Given the description of an element on the screen output the (x, y) to click on. 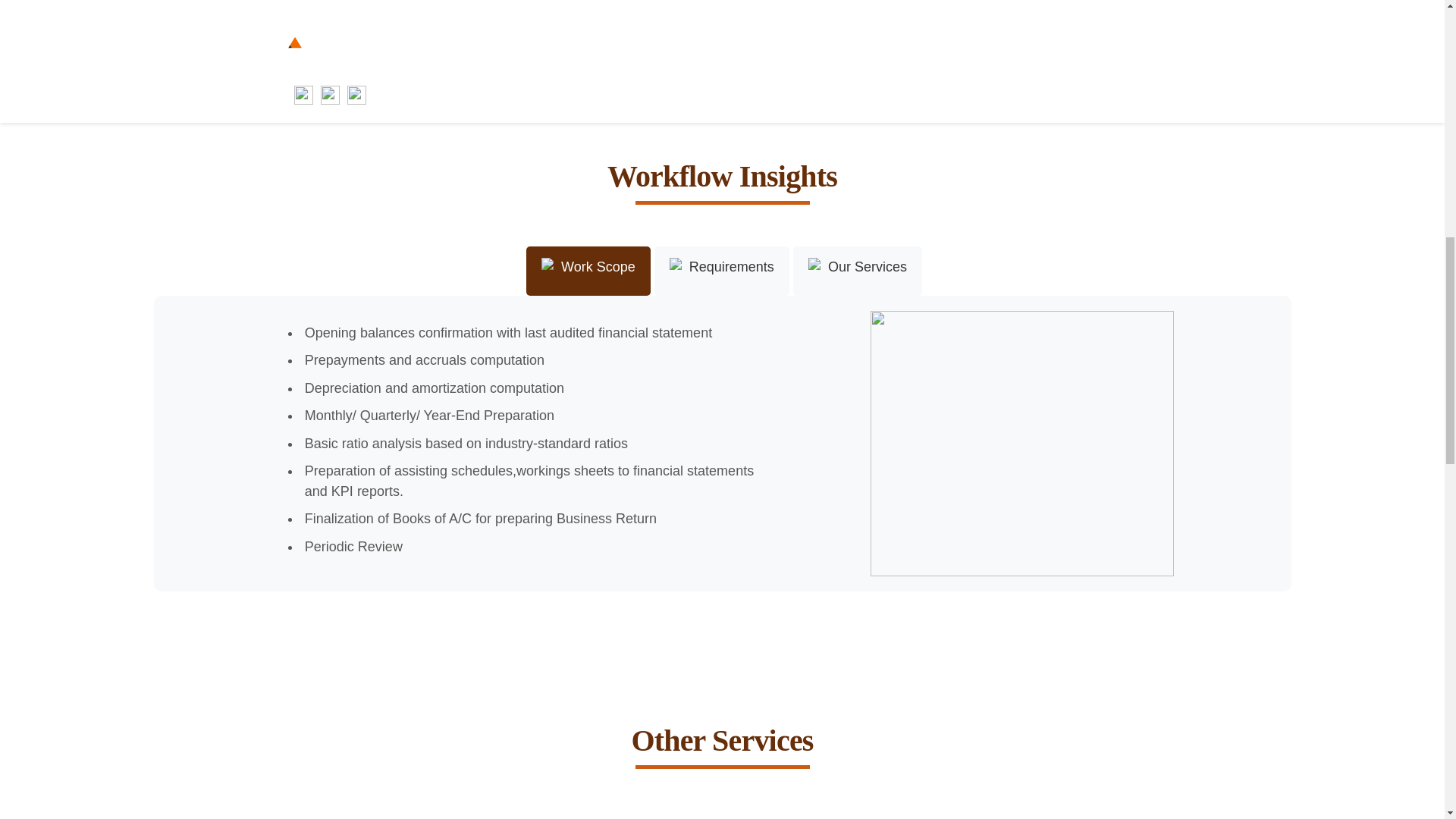
Our Services (857, 270)
Requirements (721, 270)
Work Scope (587, 270)
